Given the description of an element on the screen output the (x, y) to click on. 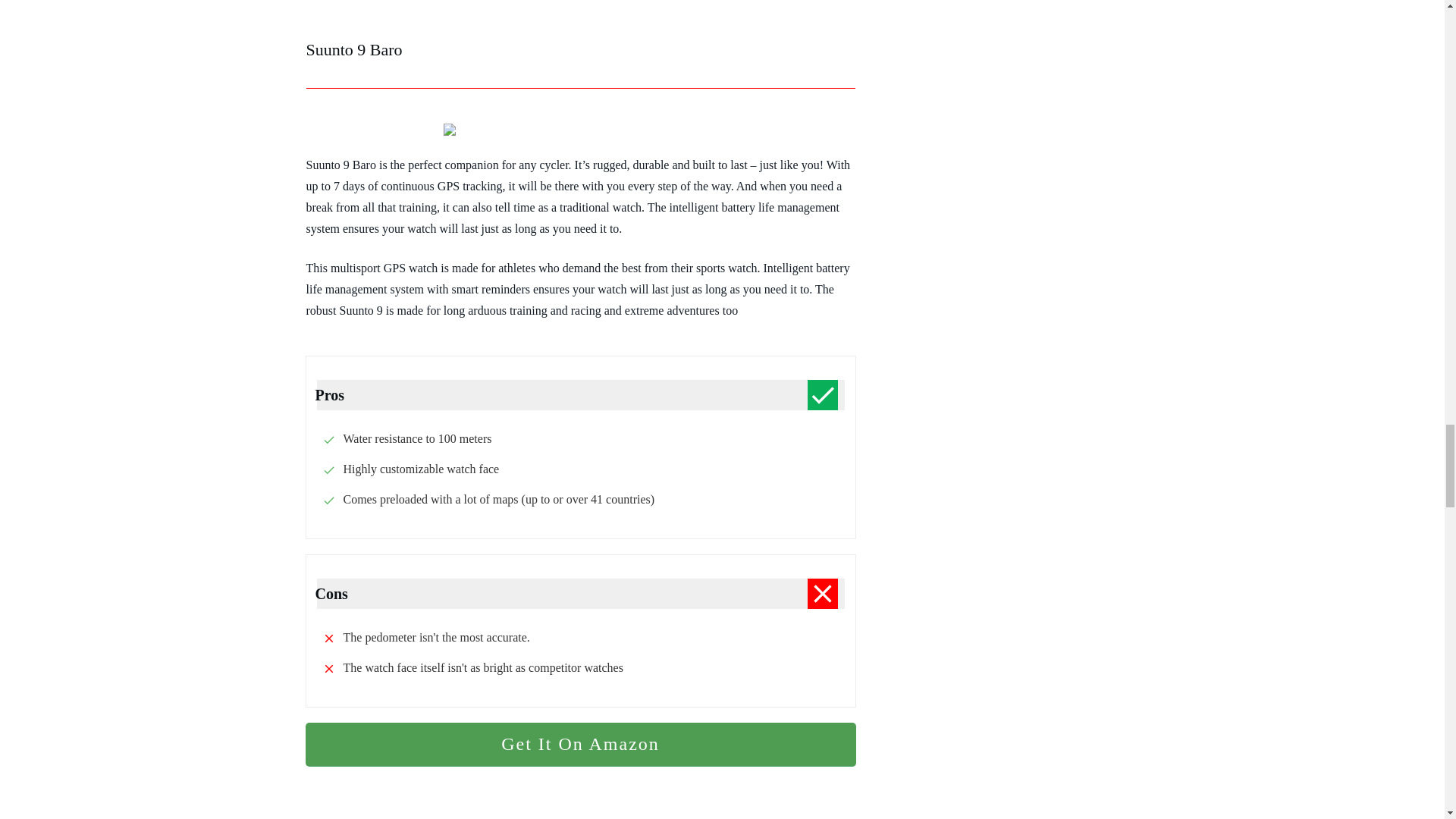
Get It On Amazon (580, 744)
